Given the description of an element on the screen output the (x, y) to click on. 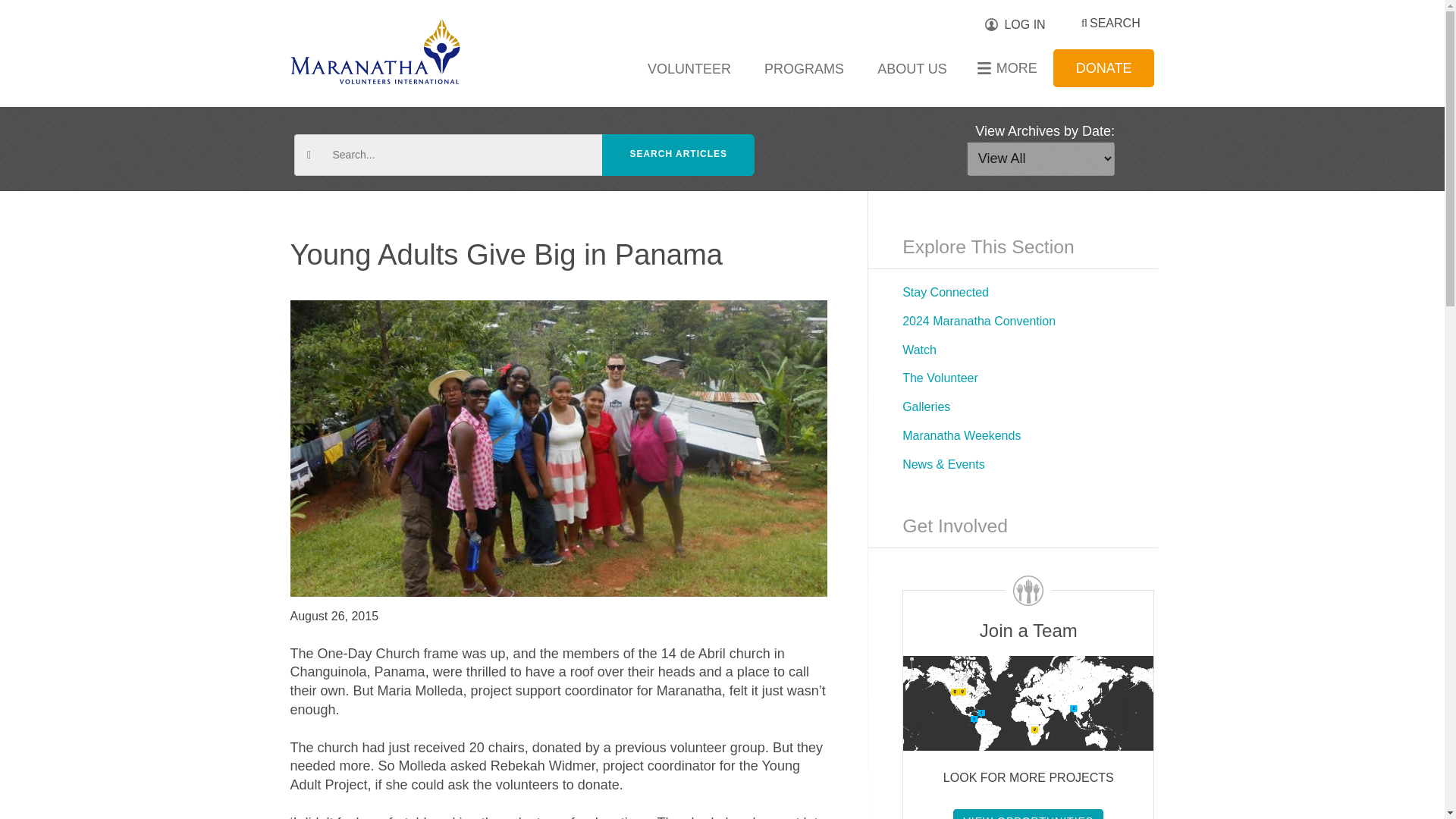
ABOUT US (912, 68)
PROGRAMS (804, 68)
VOLUNTEER (689, 68)
MORE (1012, 67)
DONATE (1103, 67)
Log In (1021, 24)
Maranatha (374, 51)
LOG IN (1021, 24)
